Given the description of an element on the screen output the (x, y) to click on. 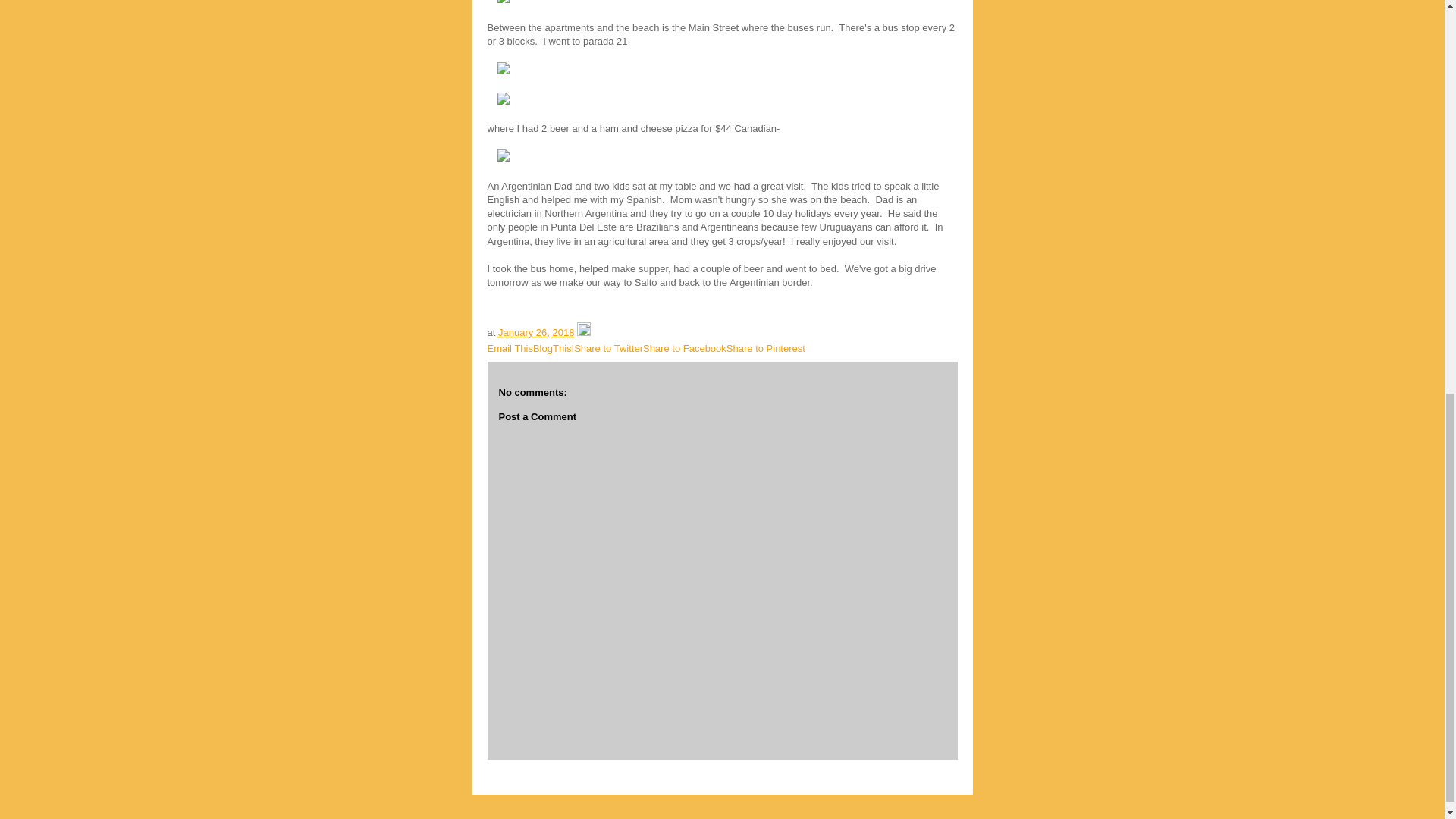
permanent link (535, 332)
Share to Facebook (684, 348)
Edit Post (583, 332)
Share to Facebook (684, 348)
Email This (509, 348)
Share to Pinterest (765, 348)
Share to Twitter (608, 348)
Share to Pinterest (765, 348)
BlogThis! (552, 348)
January 26, 2018 (535, 332)
Share to Twitter (608, 348)
Email This (509, 348)
BlogThis! (552, 348)
